Given the description of an element on the screen output the (x, y) to click on. 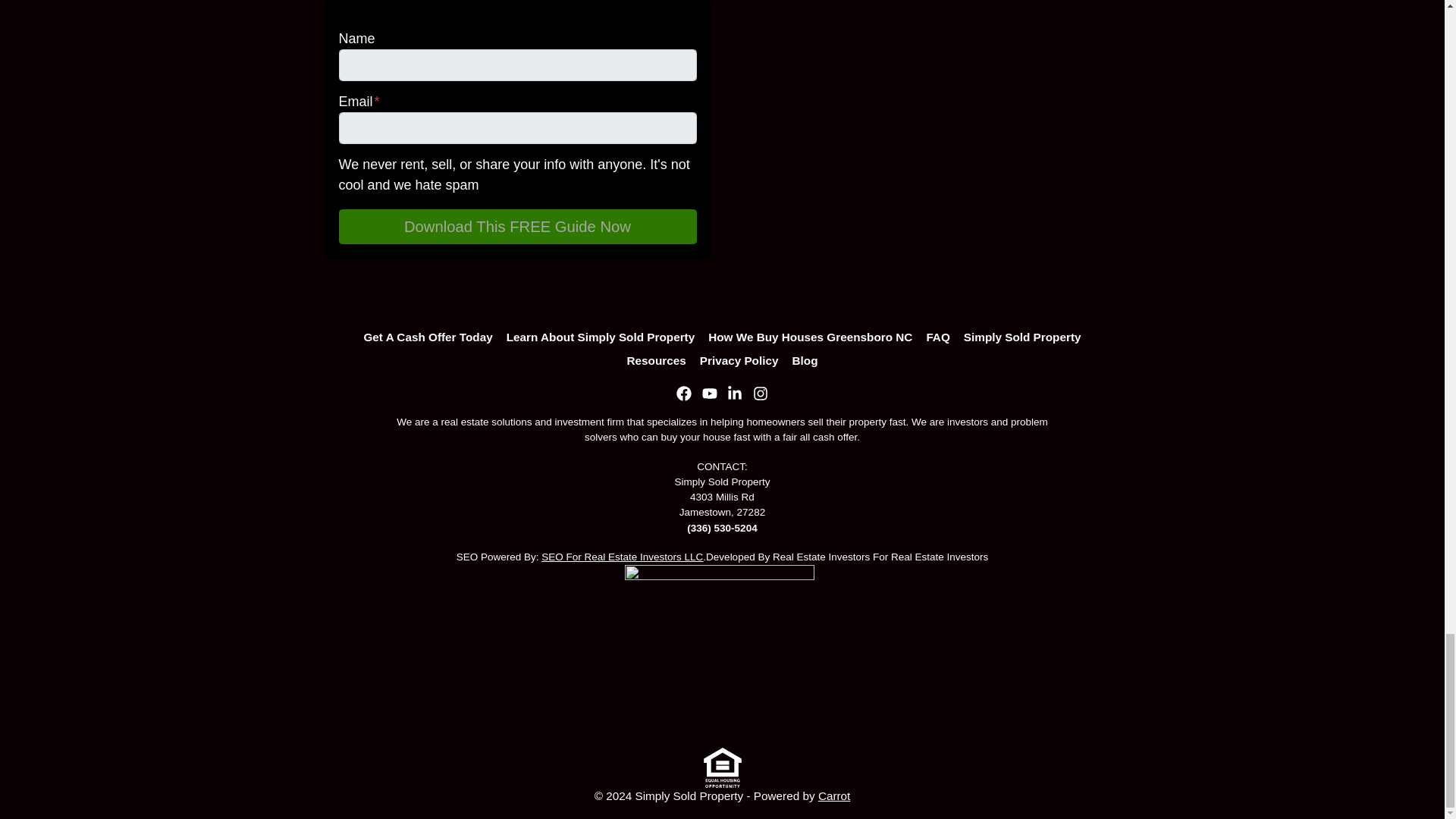
Download This FREE Guide Now (516, 226)
Get A Cash Offer Today (427, 337)
Download This FREE Guide Now (516, 226)
